Given the description of an element on the screen output the (x, y) to click on. 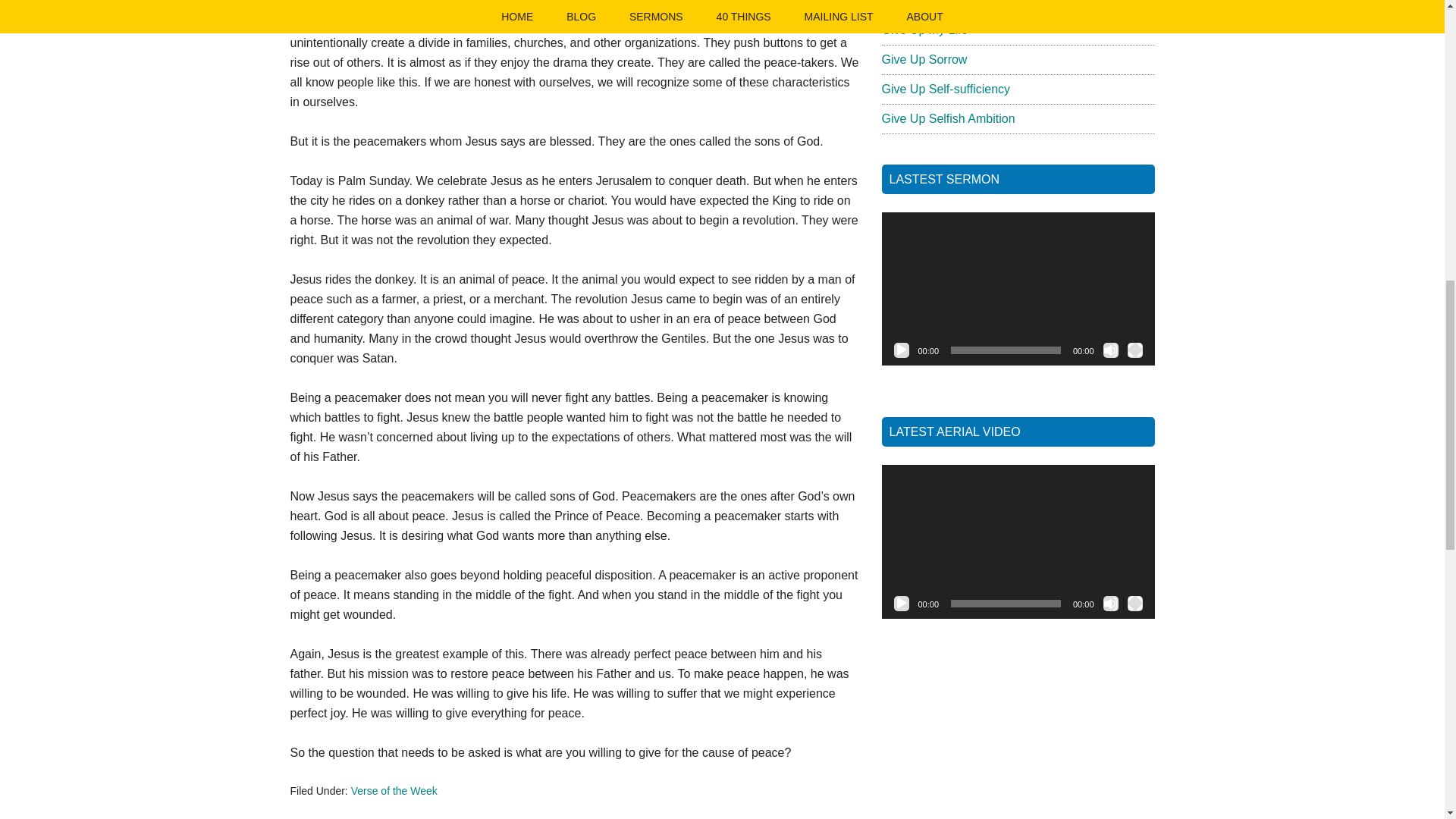
Mute (1110, 603)
Fullscreen (1133, 350)
Play (900, 350)
Play (900, 603)
Give Up Self-sufficiency (945, 88)
Give Up Selfish Ambition (947, 118)
Fullscreen (1133, 603)
Verse of the Week (394, 790)
7 Ways to Overcome Being Busy and Accomplishing Nothing (980, 3)
Give Up My Life (924, 29)
